Given the description of an element on the screen output the (x, y) to click on. 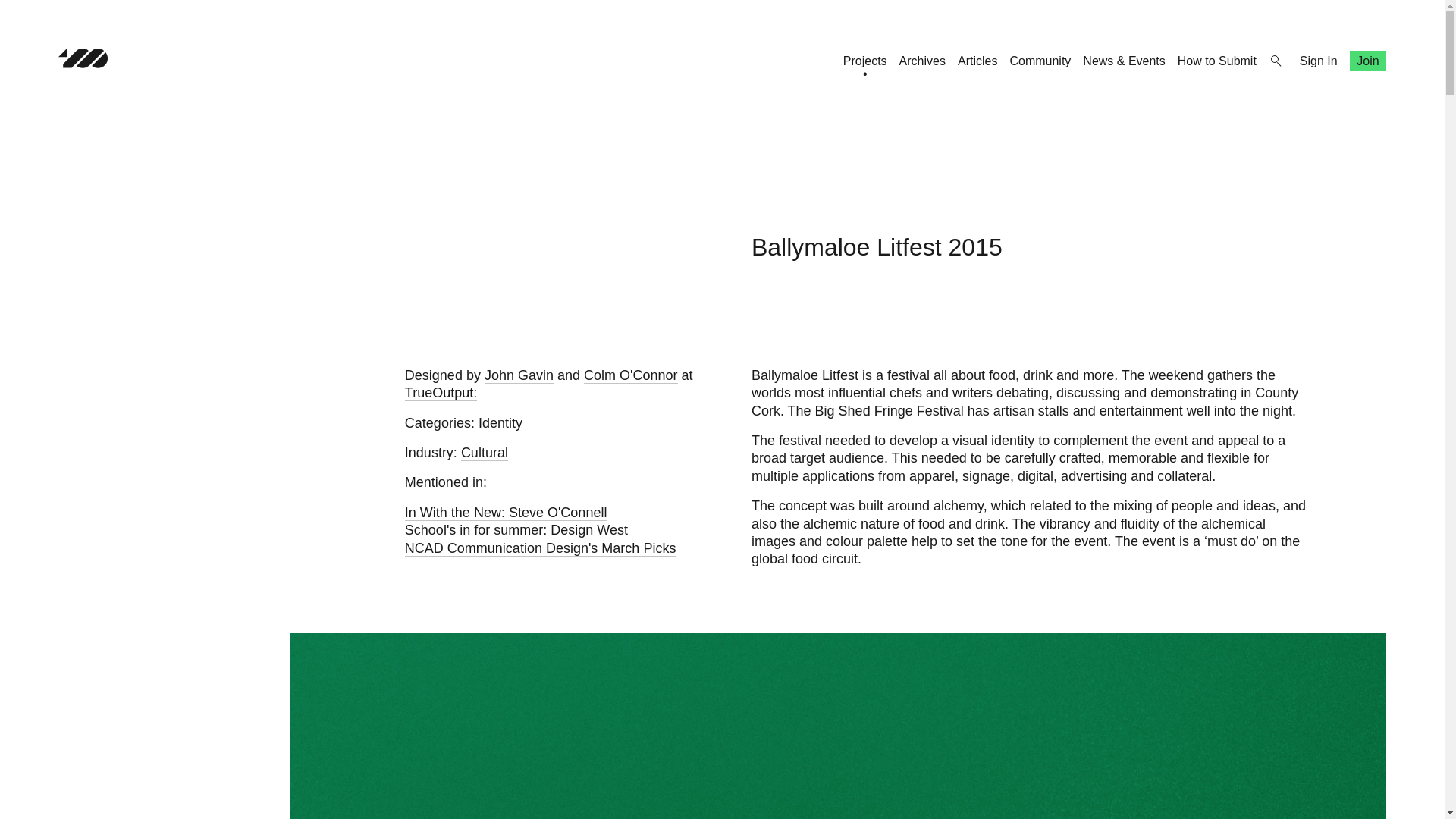
School's in for summer: Design West (515, 530)
In With the New: Steve O'Connell (505, 512)
Colm O'Connor (630, 375)
Projects (864, 60)
Archives (921, 60)
Identity (500, 423)
Cultural (484, 453)
Articles (977, 60)
John Gavin (518, 375)
Sign In (1319, 60)
